Given the description of an element on the screen output the (x, y) to click on. 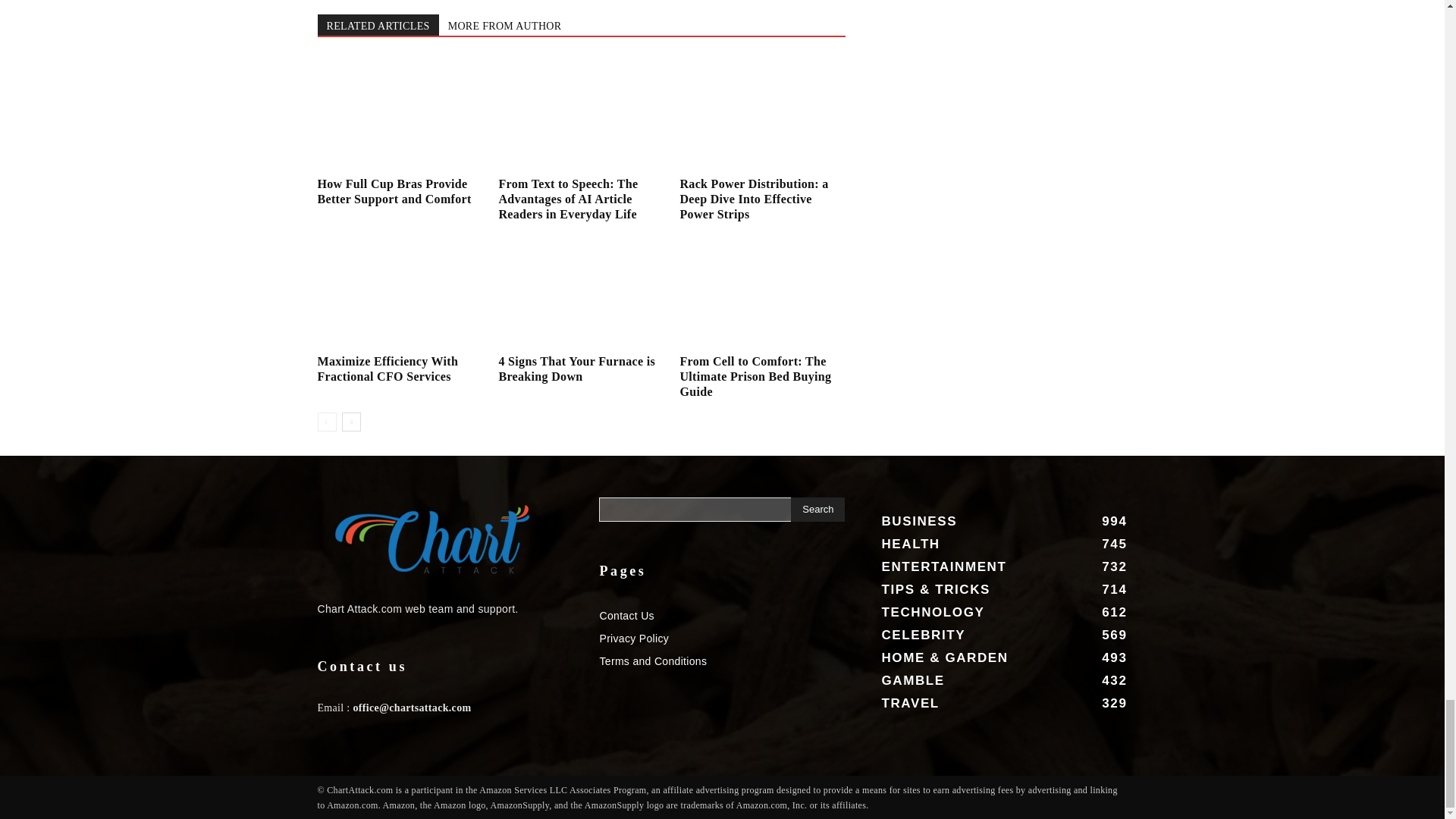
How Full Cup Bras Provide Better Support and Comfort (393, 191)
How Full Cup Bras Provide Better Support and Comfort (399, 114)
Search (817, 509)
